Given the description of an element on the screen output the (x, y) to click on. 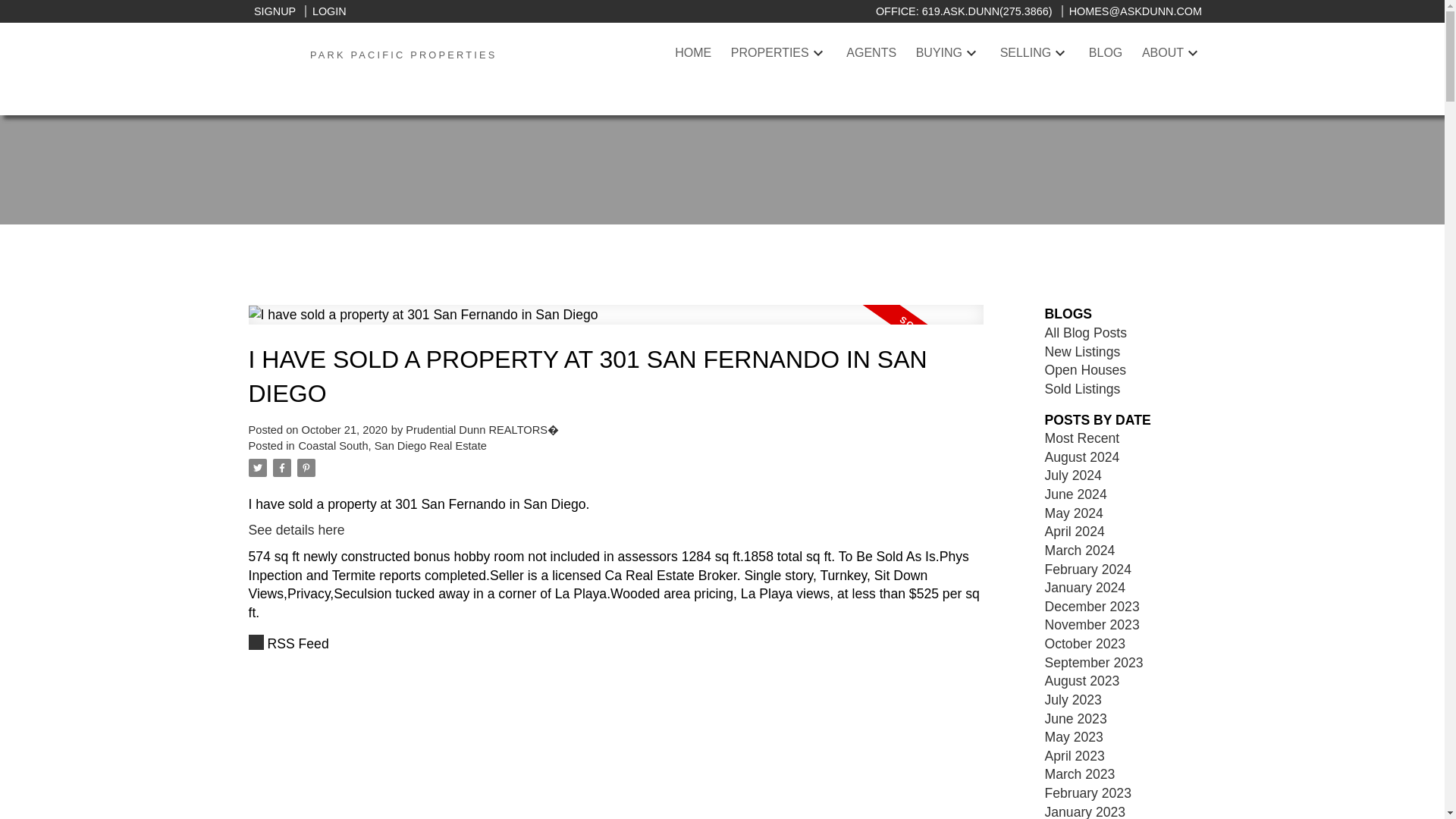
AGENTS (870, 53)
SIGNUP (274, 10)
Coastal South, San Diego Real Estate (392, 445)
RSS (616, 643)
PARK PACIFIC PROPERTIES (403, 52)
BLOG (1105, 53)
HOME (693, 53)
LOGIN (325, 10)
